Given the description of an element on the screen output the (x, y) to click on. 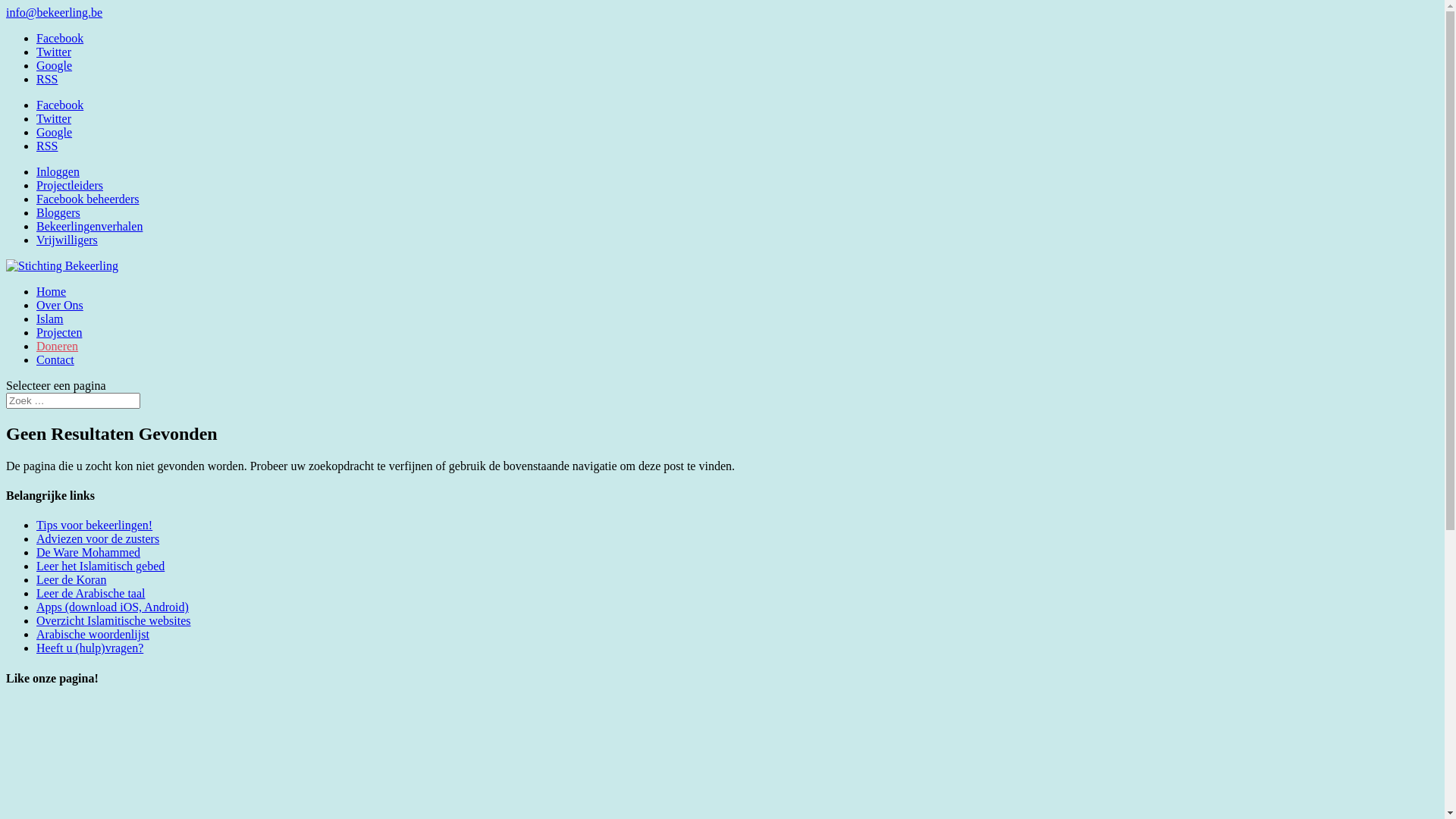
Heeft u (hulp)vragen? Element type: text (89, 647)
Projectleiders Element type: text (69, 184)
Google Element type: text (54, 131)
Projecten Element type: text (58, 332)
Zoek naar: Element type: hover (73, 400)
Apps (download iOS, Android) Element type: text (112, 606)
Vrijwilligers Element type: text (66, 239)
Bekeerlingenverhalen Element type: text (89, 225)
Inloggen Element type: text (57, 171)
RSS Element type: text (46, 78)
Bloggers Element type: text (58, 212)
Adviezen voor de zusters Element type: text (97, 538)
Google Element type: text (54, 65)
Over Ons Element type: text (59, 304)
info@bekeerling.be Element type: text (54, 12)
De Ware Mohammed Element type: text (88, 552)
Facebook Element type: text (59, 37)
Doneren Element type: text (57, 345)
Leer het Islamitisch gebed Element type: text (100, 565)
Home Element type: text (50, 291)
Twitter Element type: text (53, 51)
Facebook beheerders Element type: text (87, 198)
Tips voor bekeerlingen! Element type: text (94, 524)
Twitter Element type: text (53, 118)
Arabische woordenlijst Element type: text (92, 633)
Leer de Arabische taal Element type: text (90, 592)
Facebook Element type: text (59, 104)
RSS Element type: text (46, 145)
Leer de Koran Element type: text (71, 579)
Overzicht Islamitische websites Element type: text (113, 620)
Contact Element type: text (55, 359)
Islam Element type: text (49, 318)
